Given the description of an element on the screen output the (x, y) to click on. 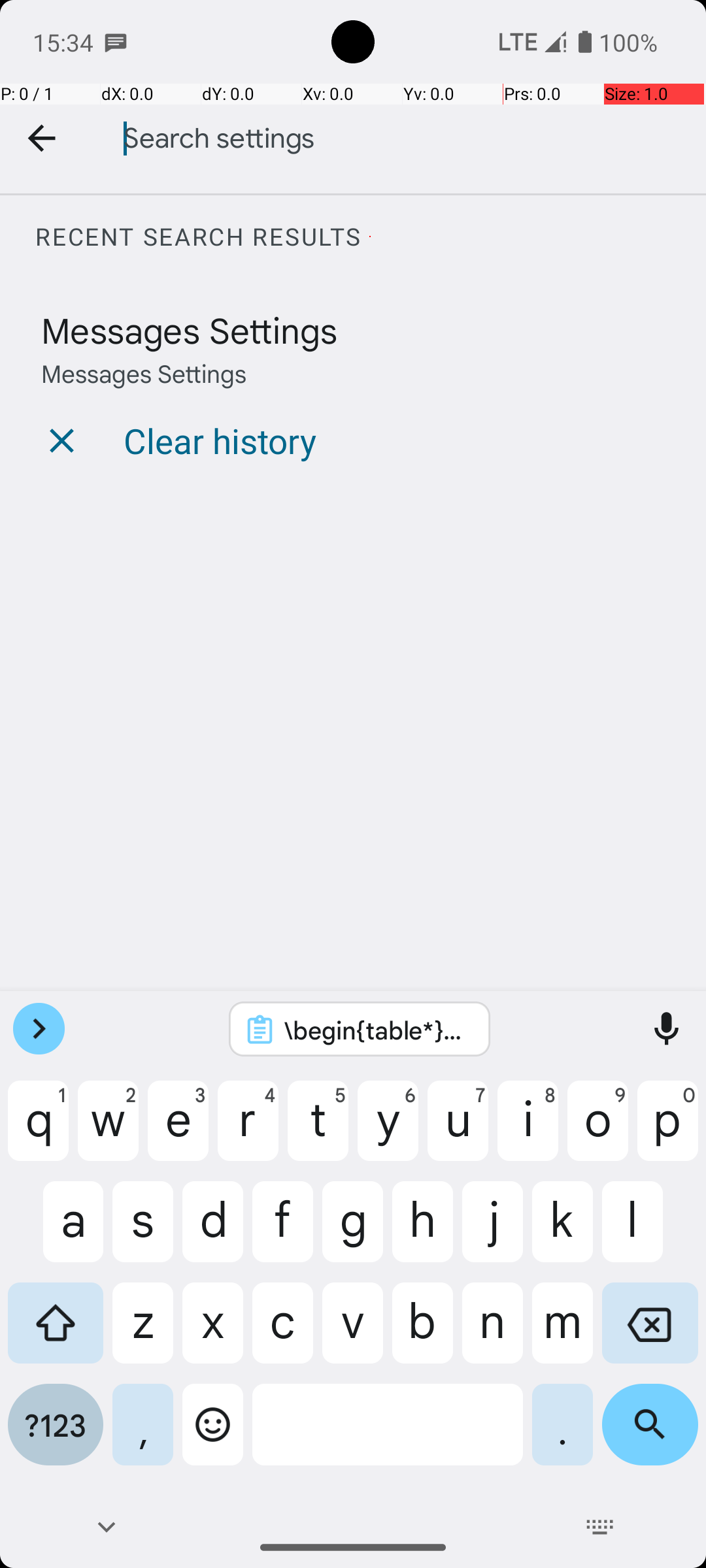
RECENT SEARCH RESULTS Element type: android.widget.TextView (370, 236)
Messages Settings Element type: android.widget.TextView (189, 329)
Clear history Element type: android.widget.TextView (219, 440)
\begin{table*}[t!] \centering \renewcommand\arraystretch{1.1} \tabcolsep=0.05cm {\fontsize{10pt}{12pt}\selectfont \begin{tabular}{cccccccccc} \hline % \toprule          \multirow{2}{*}{LVLMs} & \multirow{2}{*}{\parbox{1.5cm}{\centering Model\\Size}}   & \multirow{2}{*}{\parbox{1.5cm}{\centering GUI\\Specific}} & \multicolumn{2}{c}{Mobile}        & \multicolumn{2}{c}{Desktop}       & \multicolumn{2}{c}{Web}           & \multirow{2}{*}{Average} \\ \cline{4-9}          &    &                               & Text            & Icon/Widget     & Text            & Icon/Widget     & Text            & Icon/Widget     &                          \\  % \midrule \hline MiniGPT-v2     & 7B   & \textcolor{darkred}{\ding{55}}                              &  8.4\%               & 6.6\%                & 6.2\%                & 2.9\%                & 6.5\%                & 3.4\%                & 5.7\%                         \\ Qwen-VL  & 9.6B   & \textcolor{darkred}{\ding{55}}                             & 9.5\%           & 4.8\%           & 5.7\%           & 5.0\%           & 3.5\%           & 2.4\%           & 5.2\%                    \\  GPT-4V   & -    & \textcolor{darkred}{\ding{55}}     & 22.6\%    & 24.5\%    & 20.2\%    & 11.8\%    &9.2\%  & 8.8\%     & 16.2\% \\ \hline Fuyu     & 8B   & \textcolor{darkgreen}{\ding{51}}                               & 41.0\%          & 1.3\%           & 33.0\%          & 3.6\%           & 33.9\%          & 4.4\%           & 19.5\%                   \\ CogAgent & 18B   & \textcolor{darkgreen}{\ding{51}}                               & 67.0\%          & 24.0\%          & \textbf{74.2\%} & 20.0\%          & \textbf{70.4\%} & 28.6\% & 47.4\%                   \\ \seek & 9.6B   & \textcolor{darkgreen}{\ding{51}}                              & \textbf{78.0\%} & \textbf{52.0\%} & 72.2\%          & \textbf{30.0\%} & 55.7\%          & \textbf{32.5\%} & \textbf{53.4\%}          \\  \hline % \bottomrule \end{tabular} } \caption{Results of different LVLMs on \seesp. The best results in each column are highlighted in \textbf{bold}. Benefiting from efficient GUI grounding pre-training, \seek significantly enhanced LVLMs' ability to locate GUI elements following instructions, and surpassed the strong baseline CogAgent with a smaller model size.} \label{tab:screenspot} \vspace{-1.0em} \end{table*} Element type: android.widget.TextView (376, 1029)
